Given the description of an element on the screen output the (x, y) to click on. 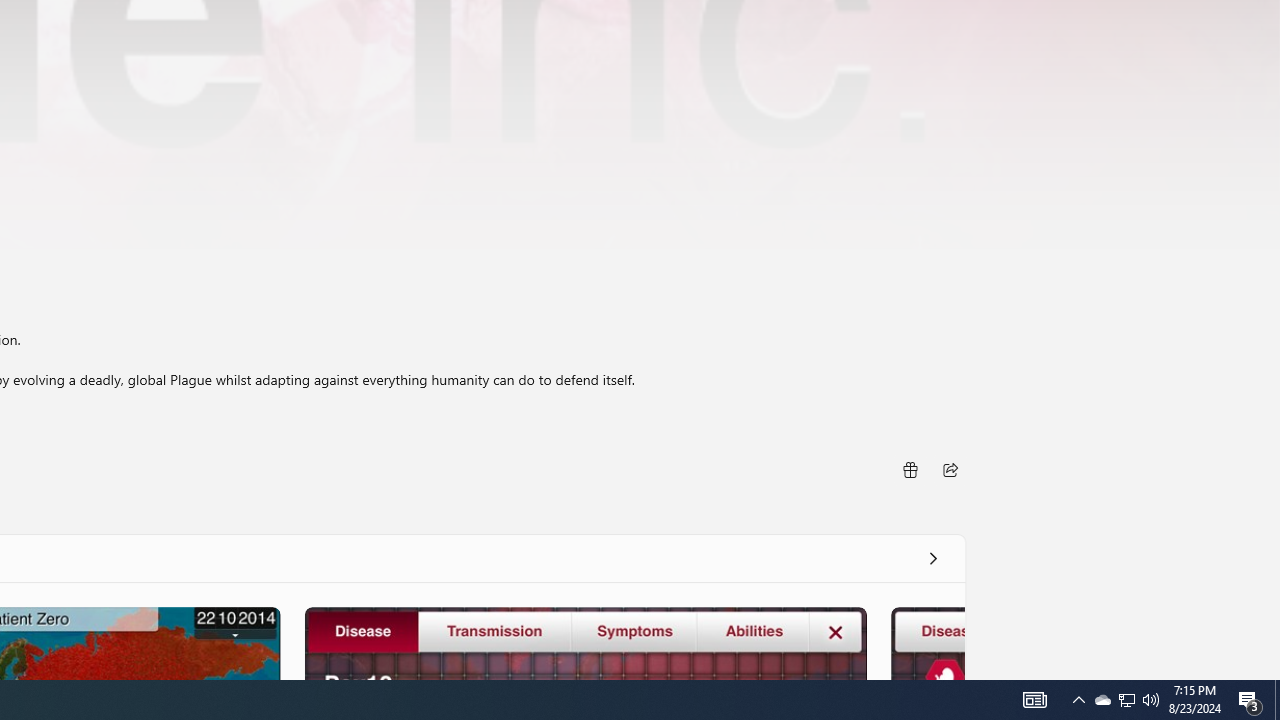
See all (932, 557)
Screenshot 3 (585, 642)
Buy as gift (909, 468)
Share (950, 468)
Screenshot 4 (926, 642)
